Given the description of an element on the screen output the (x, y) to click on. 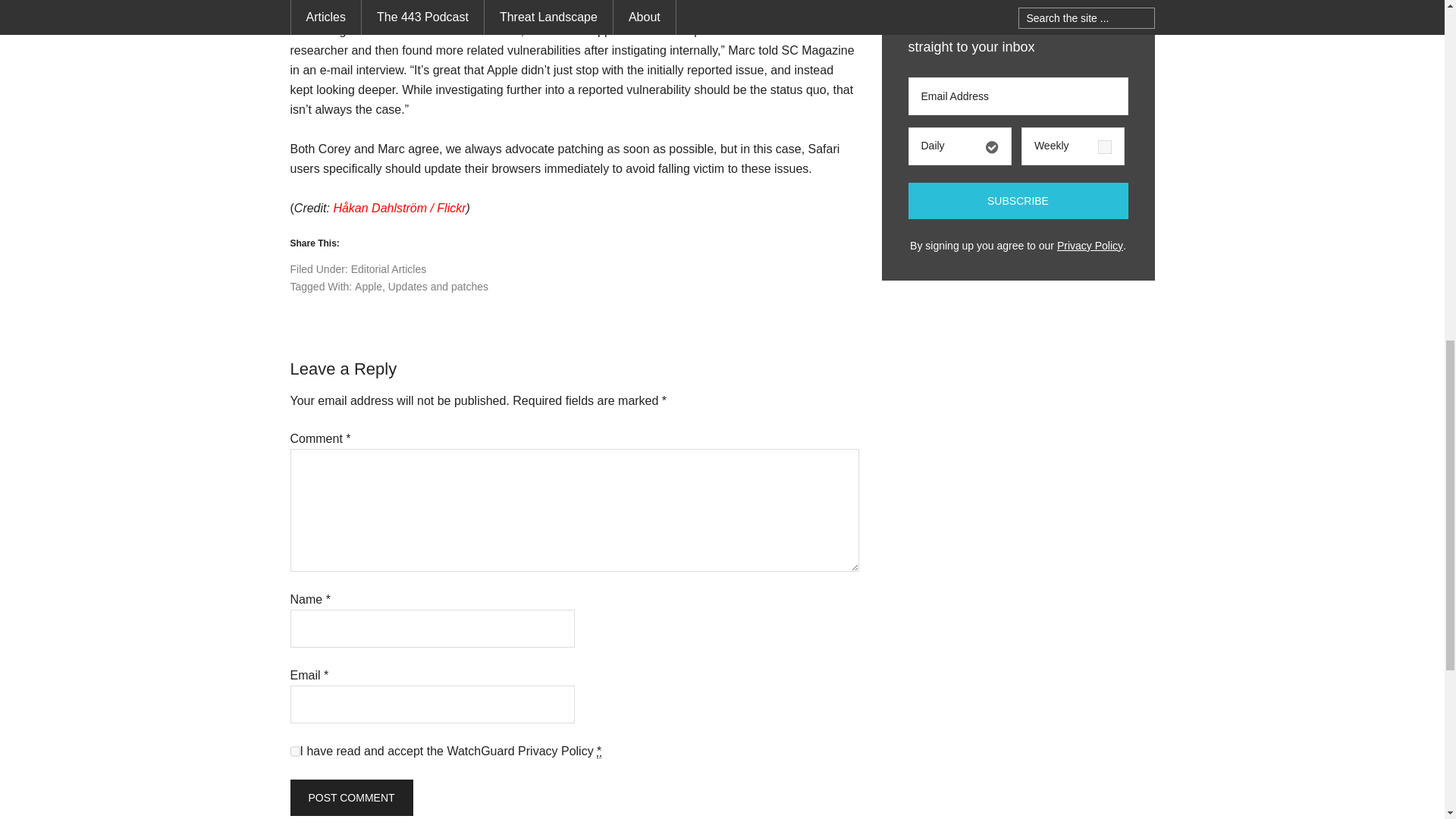
Subscribe (1018, 200)
Post Comment (350, 797)
Subscribe (1018, 200)
Apple (368, 286)
Updates and patches (437, 286)
Privacy Policy (1089, 245)
Editorial Articles (388, 268)
Post Comment (350, 797)
Privacy Policy (556, 750)
